Given the description of an element on the screen output the (x, y) to click on. 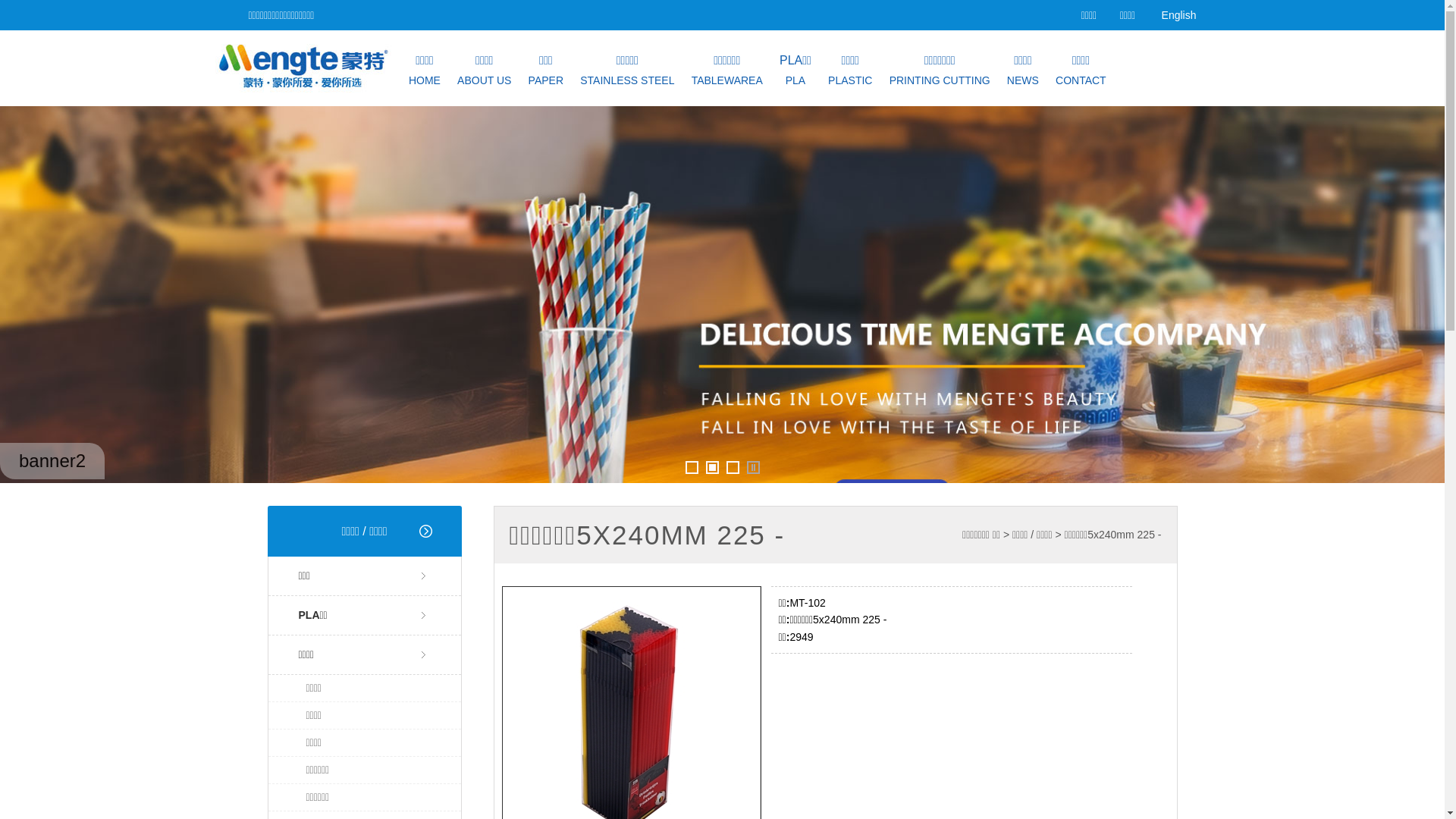
English Element type: text (1178, 15)
